Given the description of an element on the screen output the (x, y) to click on. 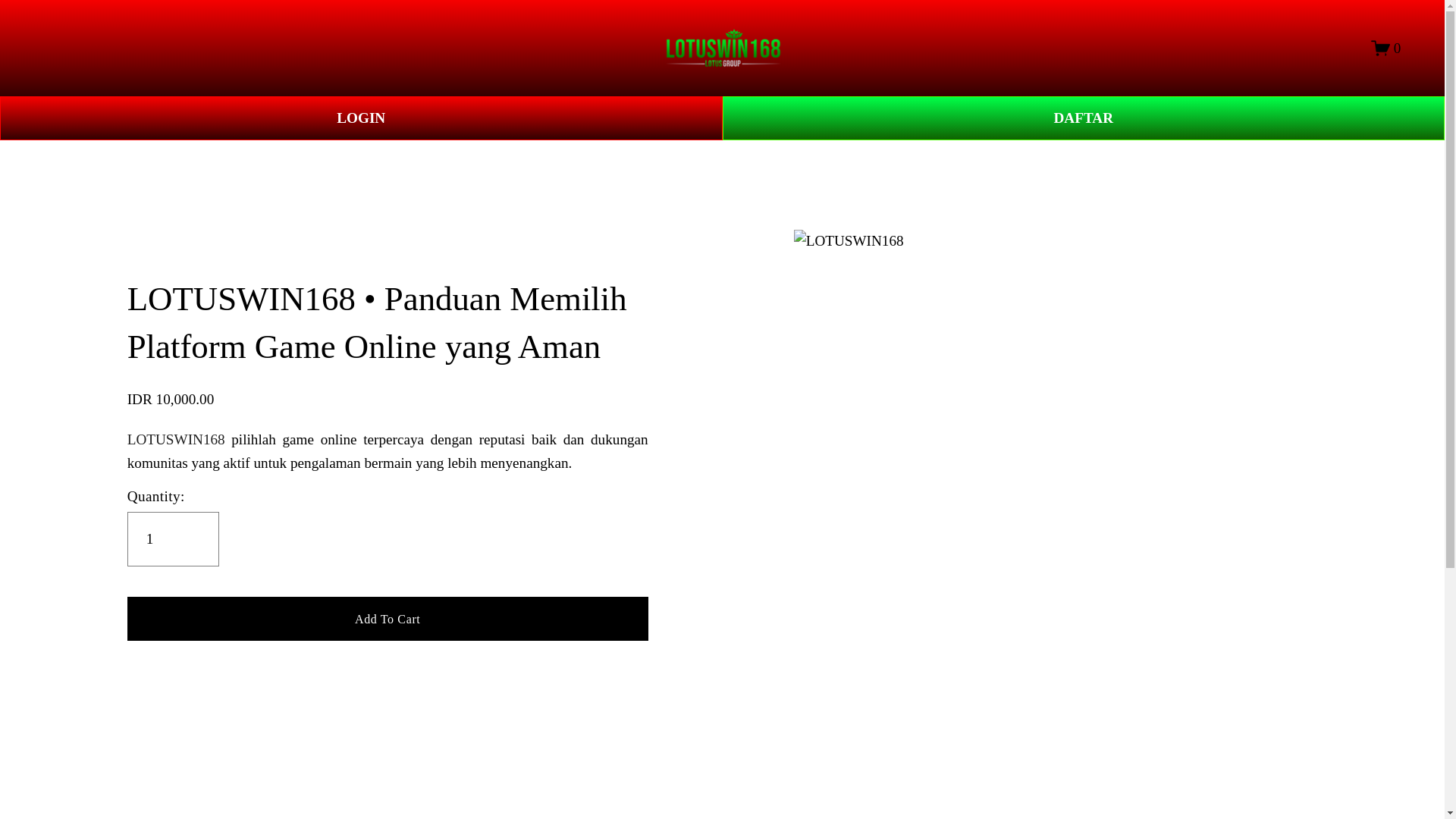
Add To Cart (387, 618)
LOTUSWIN168 (176, 439)
LOGIN (361, 118)
1 (173, 538)
0 (1385, 47)
